Given the description of an element on the screen output the (x, y) to click on. 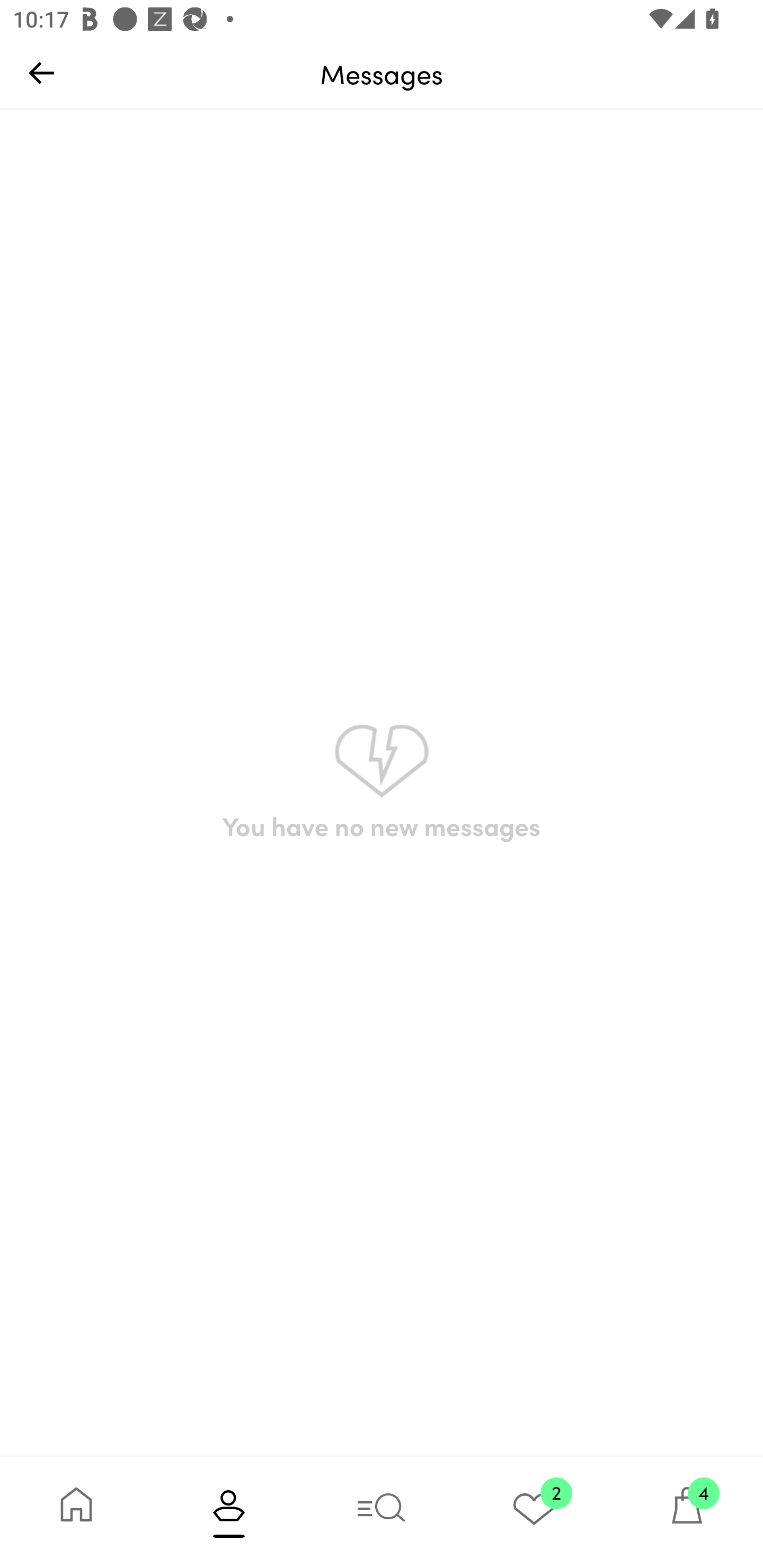
2 (533, 1512)
4 (686, 1512)
